Given the description of an element on the screen output the (x, y) to click on. 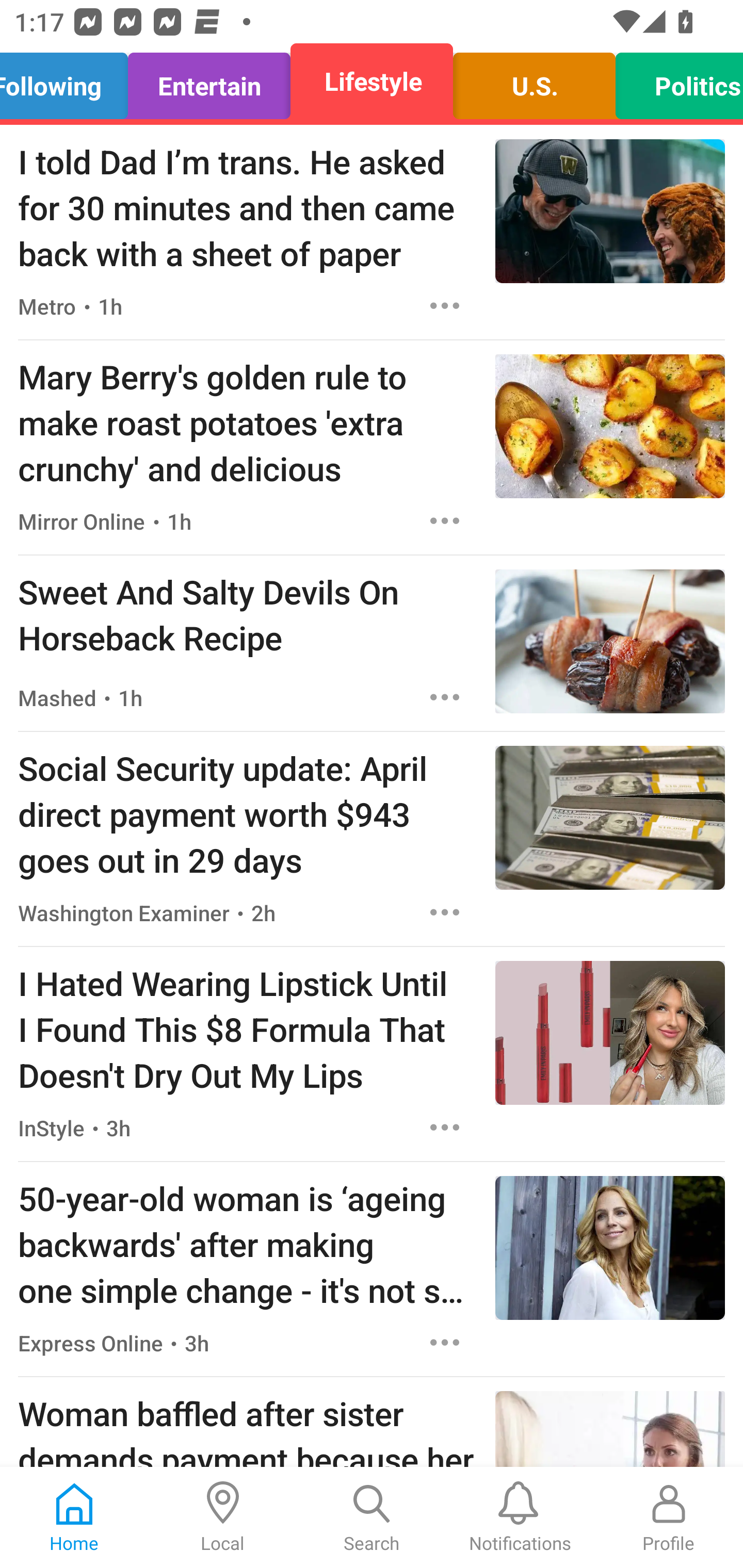
Entertain (209, 81)
Lifestyle (371, 81)
U.S. (534, 81)
Politics (673, 81)
Options (444, 305)
Options (444, 520)
Options (444, 697)
Options (444, 912)
Options (444, 1127)
Options (444, 1342)
Local (222, 1517)
Search (371, 1517)
Notifications (519, 1517)
Profile (668, 1517)
